Given the description of an element on the screen output the (x, y) to click on. 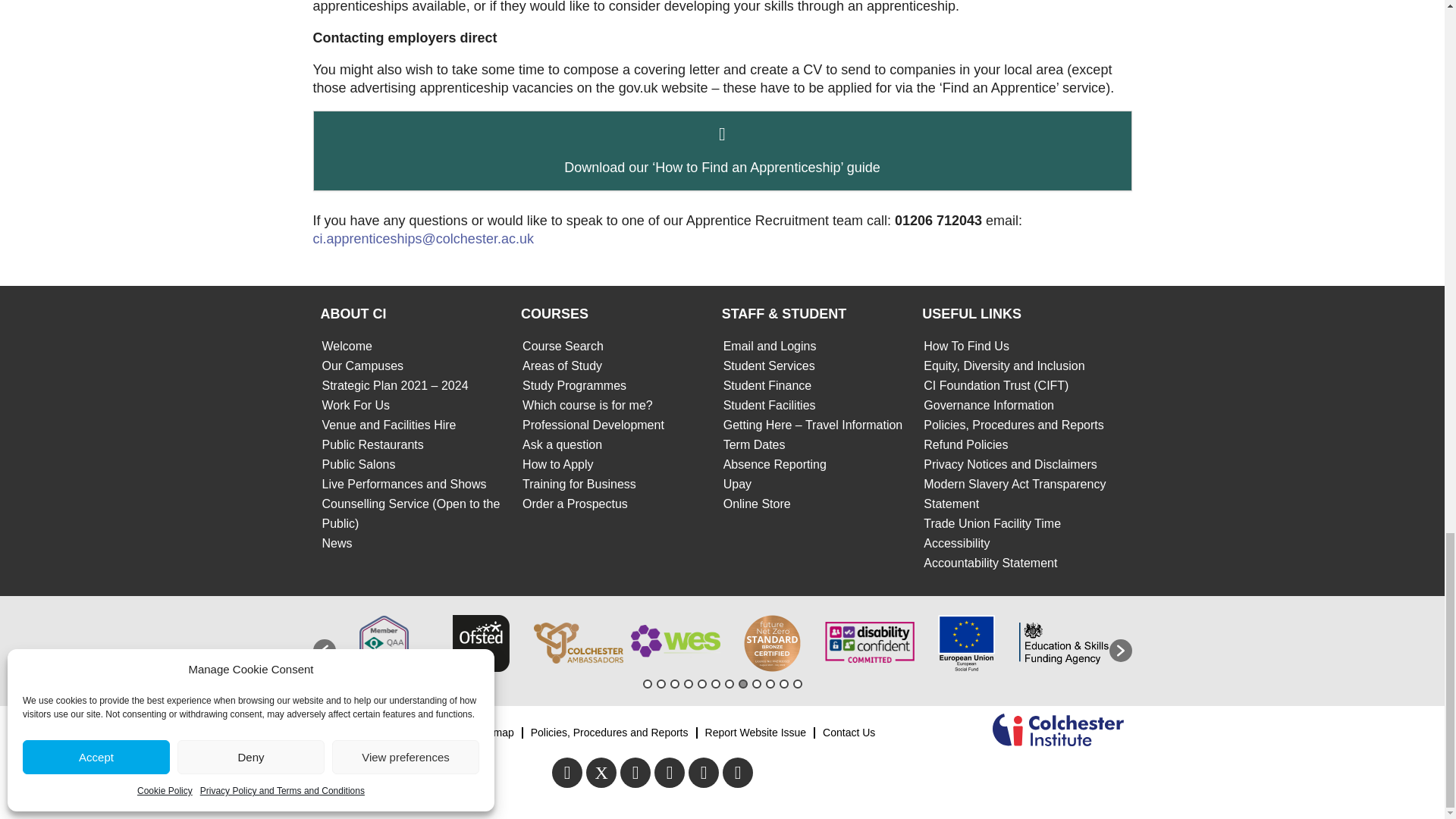
Snapchat (703, 772)
Colchester Institute (1058, 732)
Facebook (566, 772)
Youtube (635, 772)
LinkedIn (737, 772)
Instagram (668, 772)
X (600, 772)
